Given the description of an element on the screen output the (x, y) to click on. 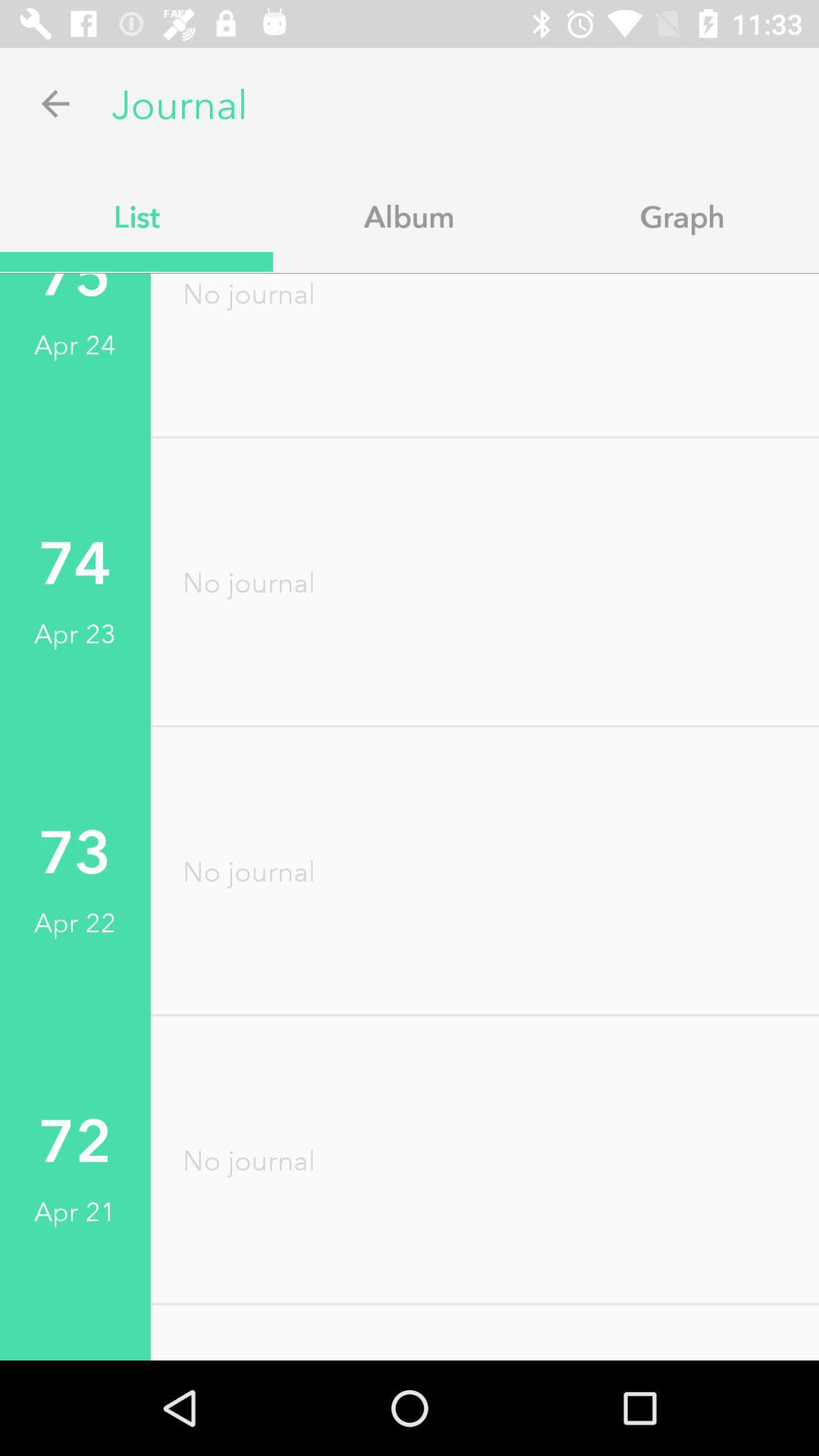
go back (55, 103)
